Given the description of an element on the screen output the (x, y) to click on. 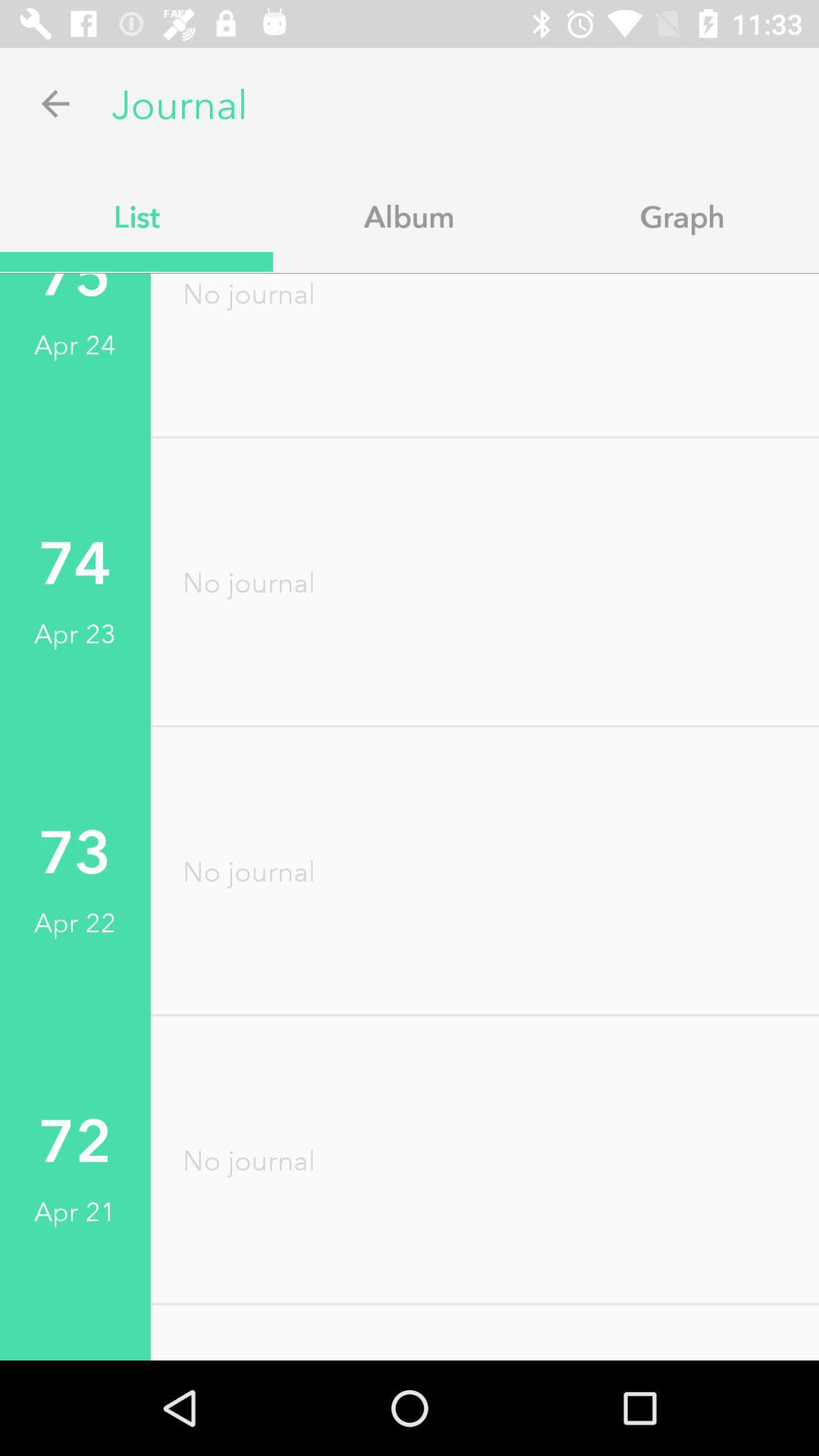
go back (55, 103)
